Given the description of an element on the screen output the (x, y) to click on. 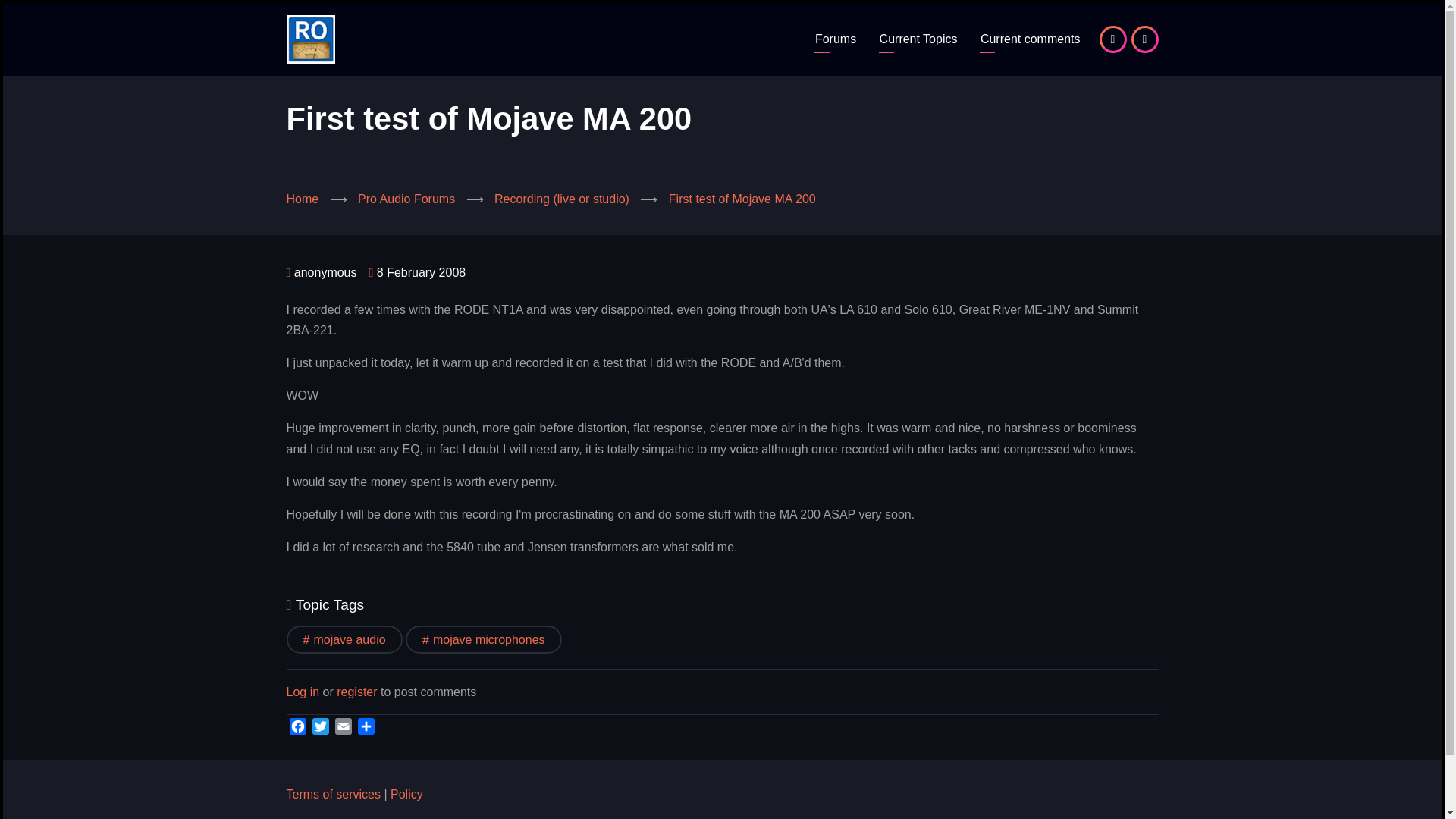
Log in (303, 691)
register (356, 691)
Current comments (1030, 39)
Twitter (319, 726)
Pro Audio Forums (835, 39)
mojave microphones (484, 639)
Forums (835, 39)
Home (302, 198)
Facebook (297, 726)
Share (366, 726)
Pro Audio Forums (406, 198)
mojave audio (344, 639)
Email (343, 726)
View user profile. (325, 272)
anonymous (325, 272)
